Given the description of an element on the screen output the (x, y) to click on. 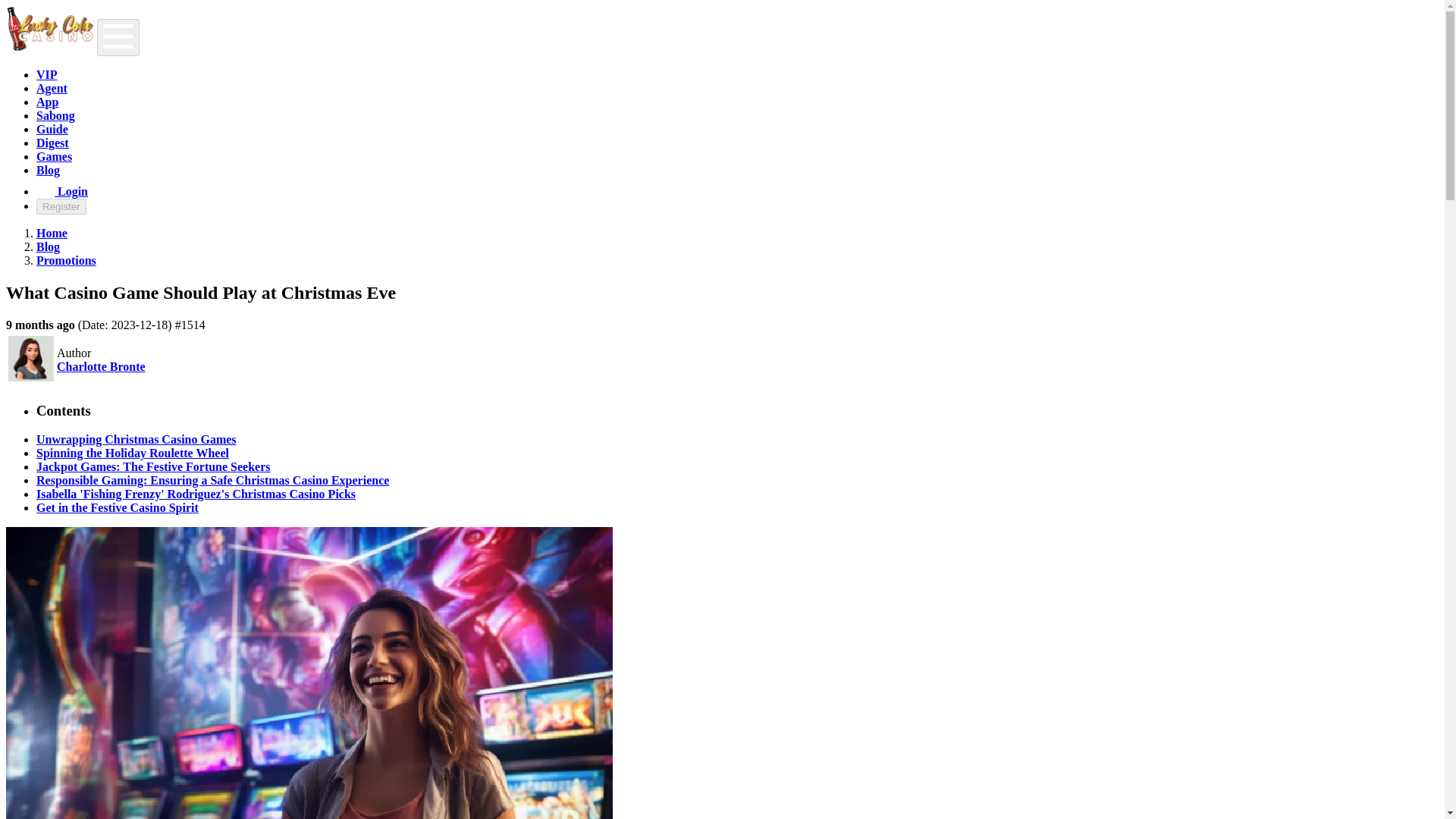
Guide (52, 128)
Charlotte Bronte (100, 366)
Lucky Cola (51, 232)
Home (51, 232)
Digest (52, 142)
Unwrapping Christmas Casino Games (135, 439)
App (47, 101)
Agent (51, 88)
Promotions (66, 259)
Get in the Festive Casino Spirit (117, 507)
